Given the description of an element on the screen output the (x, y) to click on. 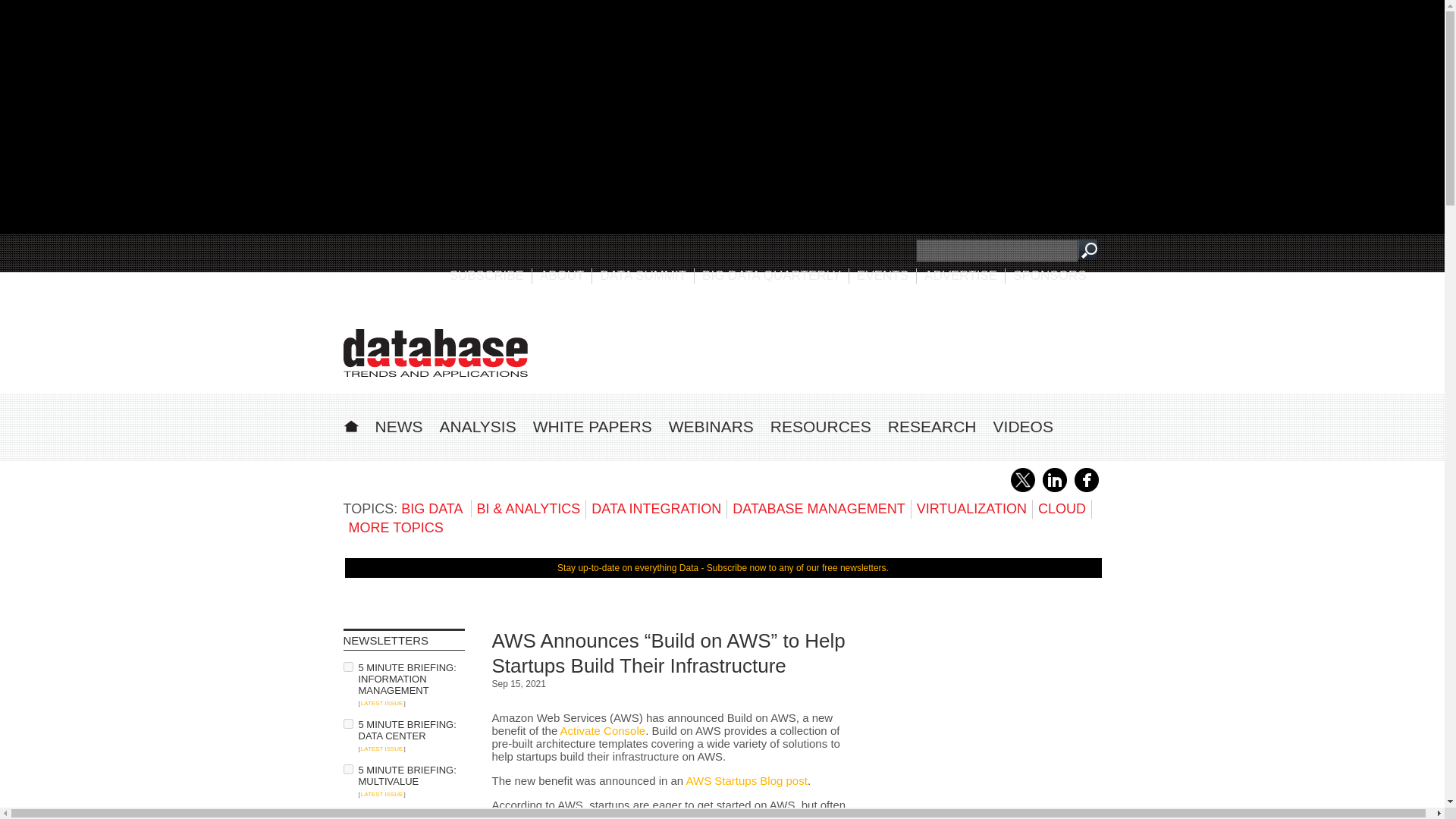
DBTA (434, 352)
ANALYSIS (477, 425)
SUBSCRIBE (486, 275)
HOME (350, 424)
DATA SUMMIT (642, 275)
RESOURCES (820, 425)
DBTA (434, 352)
VIDEOS (1022, 425)
NEWS (398, 425)
ADVERTISE (960, 275)
